Given the description of an element on the screen output the (x, y) to click on. 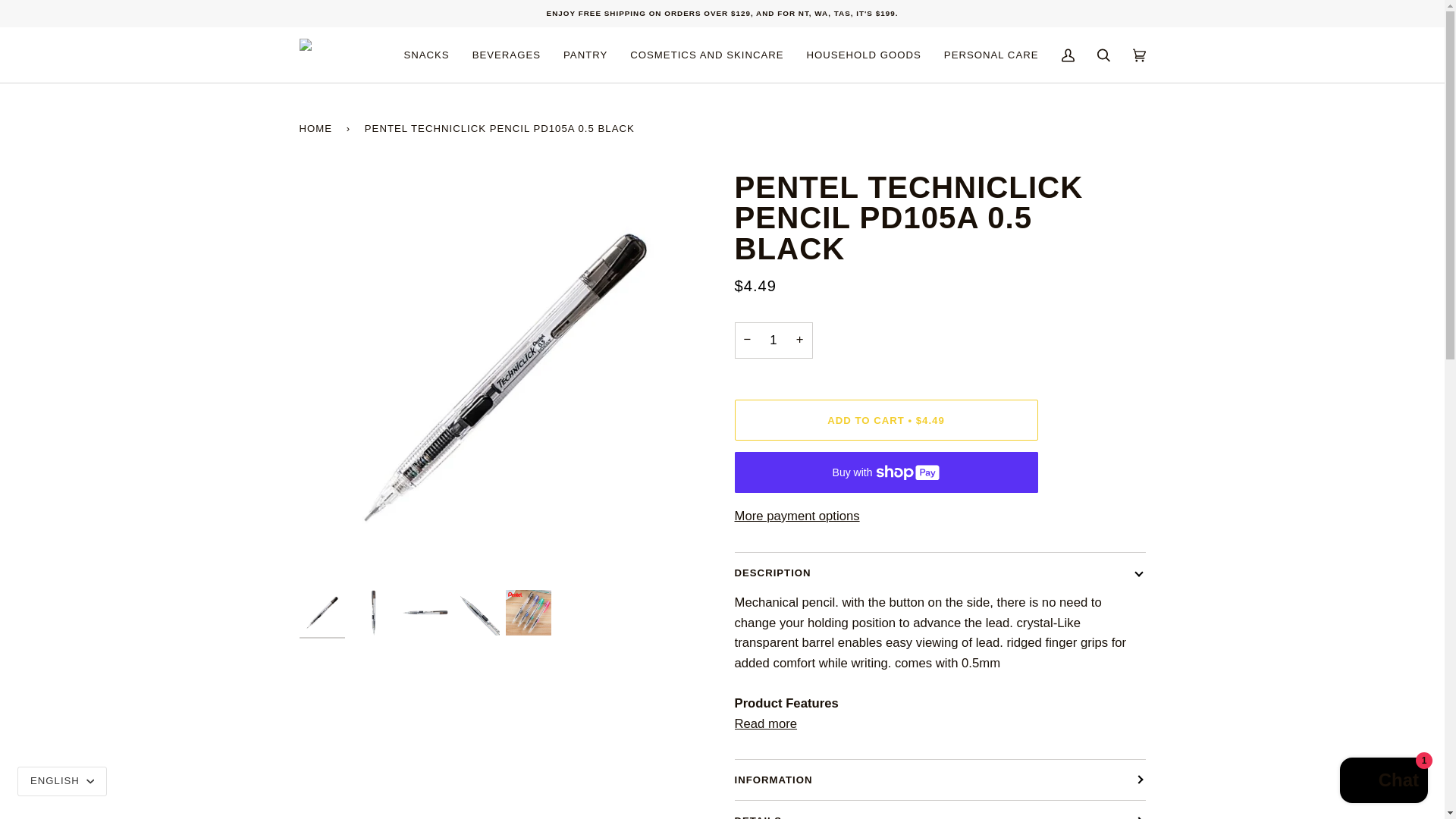
Shopify online store chat (1383, 781)
1 (772, 340)
Back to the frontpage (317, 127)
BEVERAGES (506, 54)
PERSONAL CARE (991, 54)
COSMETICS AND SKINCARE (706, 54)
PANTRY (584, 54)
SNACKS (425, 54)
HOUSEHOLD GOODS (863, 54)
